Given the description of an element on the screen output the (x, y) to click on. 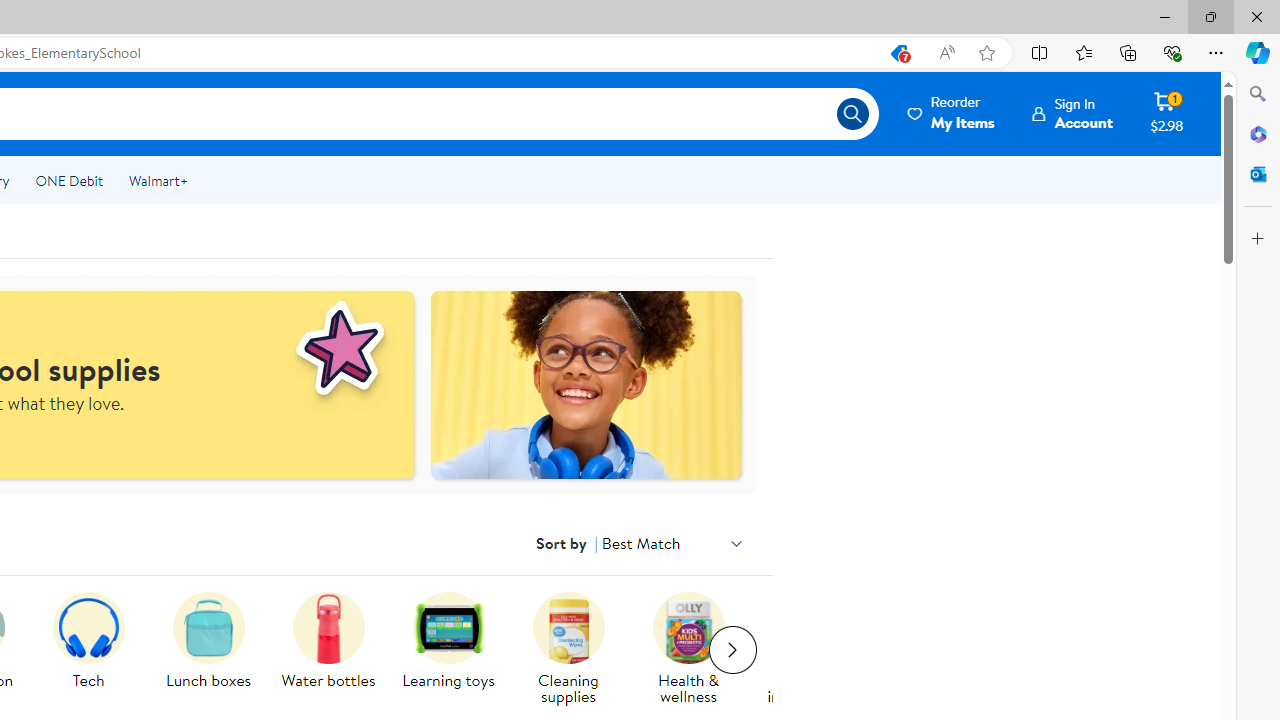
Tech (96, 650)
Walmart+ (158, 180)
A red water bottle is on display. Water bottles (328, 641)
